Given the description of an element on the screen output the (x, y) to click on. 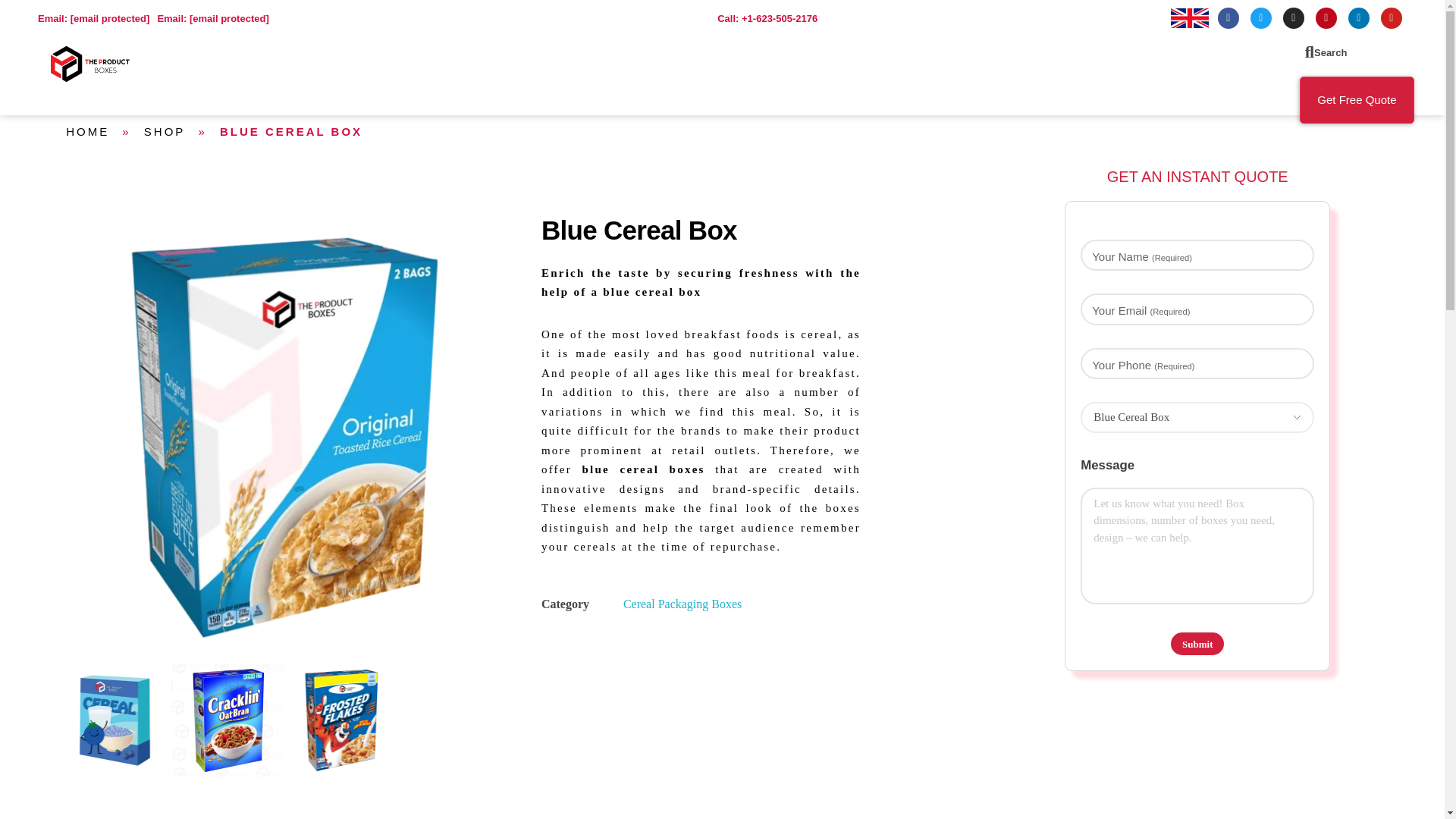
Blue Cereal Box (114, 719)
Custom Blue Cereal Box (341, 719)
Blue Cereal Packaging Box (227, 719)
The Product Boxes (128, 93)
The Product Boxes (93, 64)
The Product Boxes (128, 93)
